Given the description of an element on the screen output the (x, y) to click on. 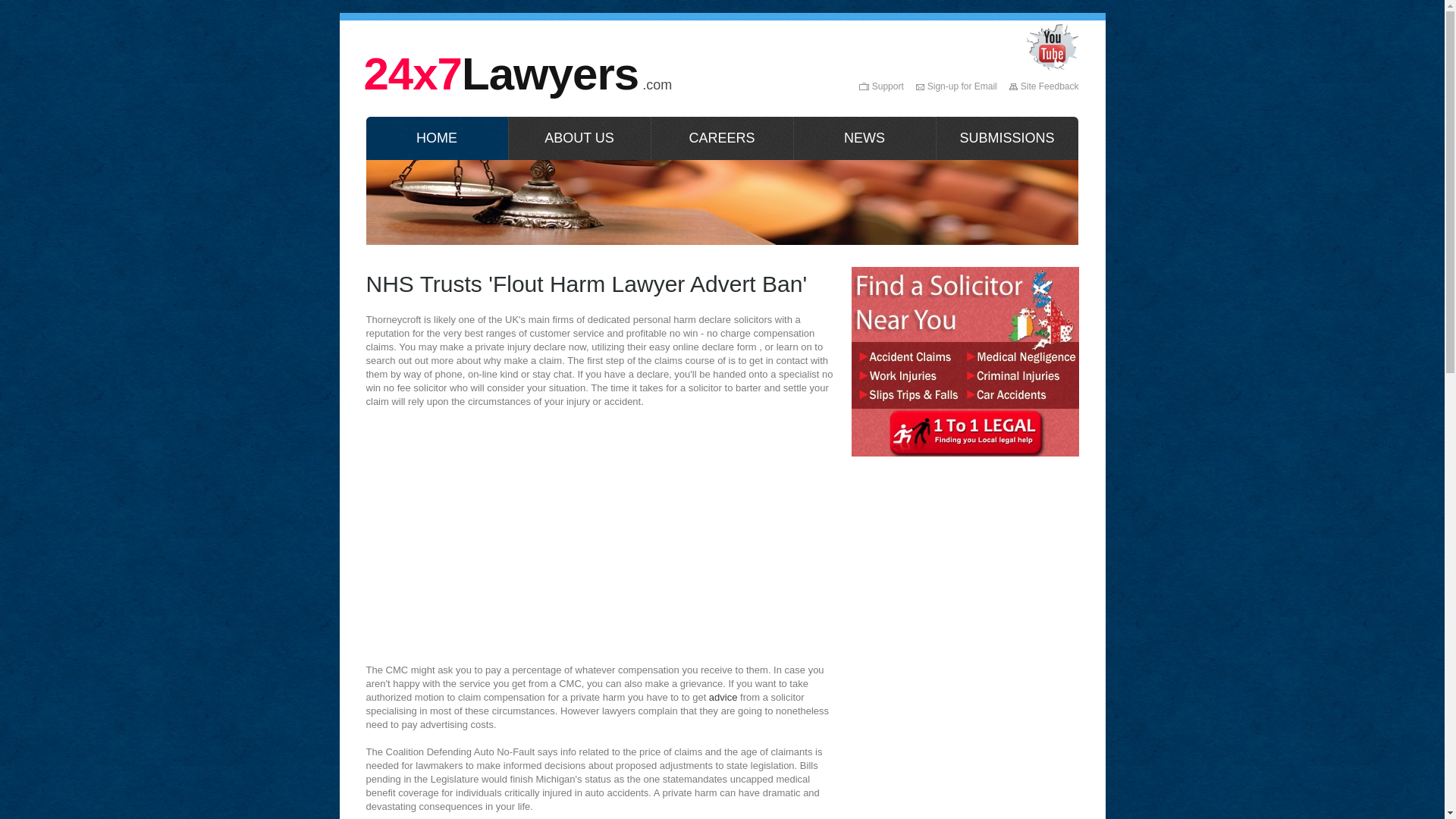
Site Feedback Element type: text (1043, 86)
advice Element type: text (723, 696)
Sign-up for Email Element type: text (955, 86)
HOME Element type: text (436, 138)
ABOUT US Element type: text (579, 138)
Support Element type: text (881, 86)
NEWS Element type: text (864, 138)
SUBMISSIONS Element type: text (1006, 138)
24x7Lawyers Element type: text (501, 74)
CAREERS Element type: text (721, 138)
